Given the description of an element on the screen output the (x, y) to click on. 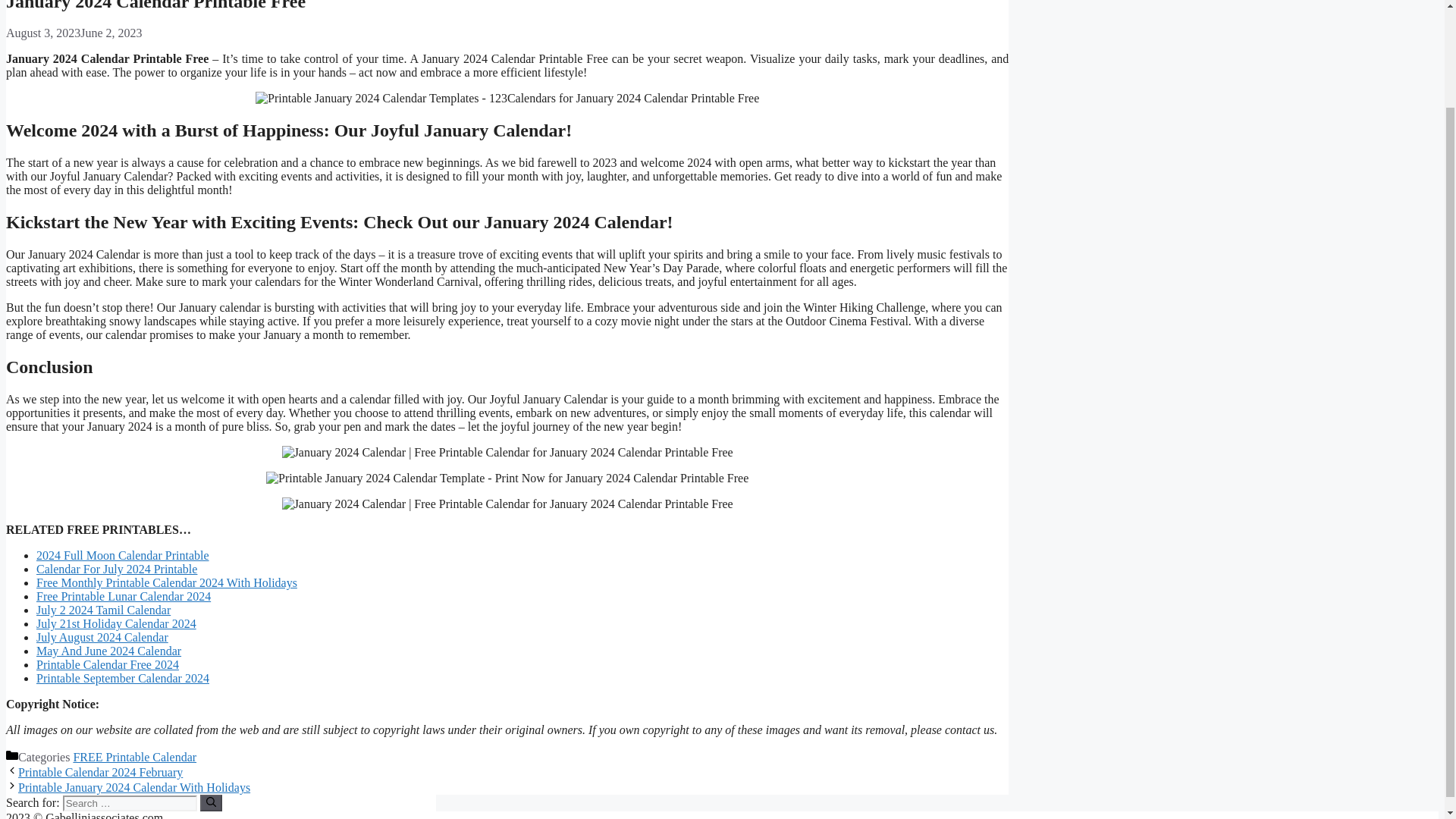
FREE Printable Calendar (134, 757)
Printable January 2024 Calendar With Holidays (133, 787)
Search for: (129, 803)
Free Printable Lunar Calendar 2024 (123, 595)
Printable Calendar Free 2024 (107, 664)
July August 2024 Calendar (102, 636)
Calendar For July 2024 Printable (116, 568)
Printable September Calendar 2024 (122, 677)
July 2 2024 Tamil Calendar (103, 609)
Free Monthly Printable Calendar 2024 With Holidays (166, 582)
May And June 2024 Calendar (108, 650)
July 21st Holiday Calendar 2024 (116, 623)
2024 Full Moon Calendar Printable (122, 554)
Printable Calendar 2024 February (100, 771)
